Given the description of an element on the screen output the (x, y) to click on. 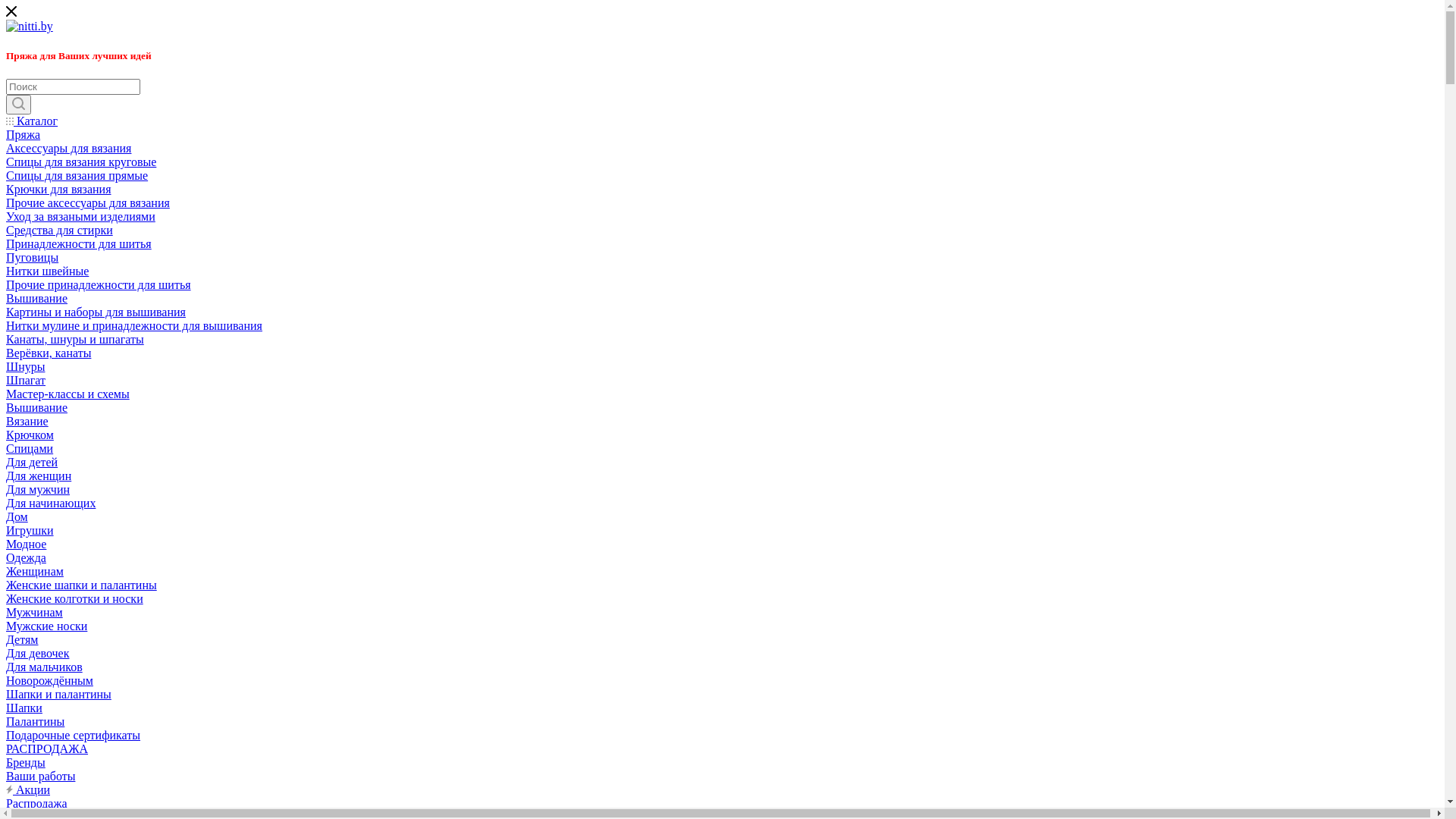
nitti.by Element type: hover (29, 26)
